Given the description of an element on the screen output the (x, y) to click on. 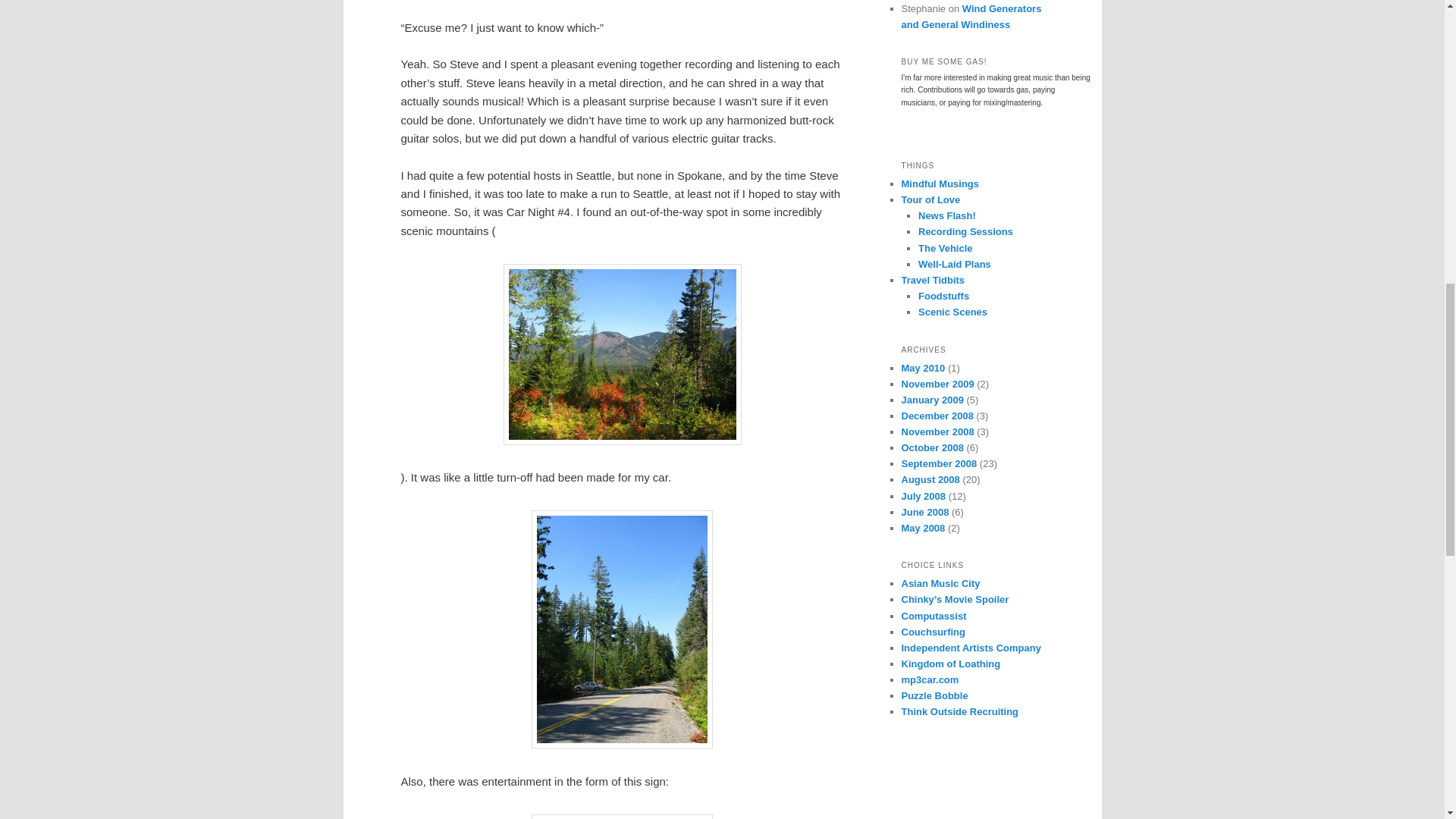
A terrific game I play.  You should join my clan! (950, 663)
Hear some of my pre-Tour tunes (971, 647)
Amuse yourself indefinitely (934, 695)
Where I discovered a lot of great Asian artists (940, 583)
Lots more info about carputers.  A trove, in fact. (929, 679)
